Given the description of an element on the screen output the (x, y) to click on. 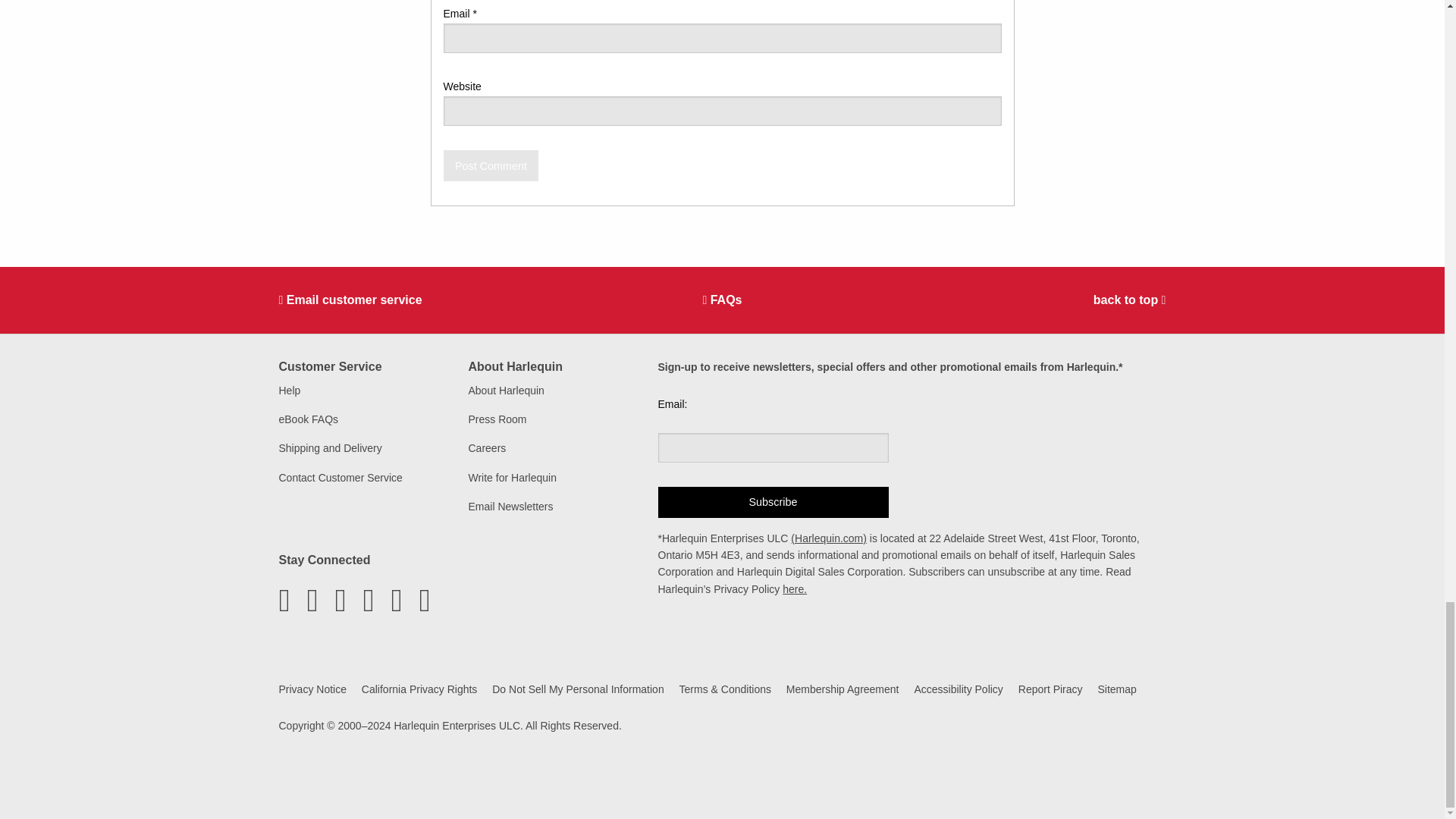
Post Comment (490, 164)
